Given the description of an element on the screen output the (x, y) to click on. 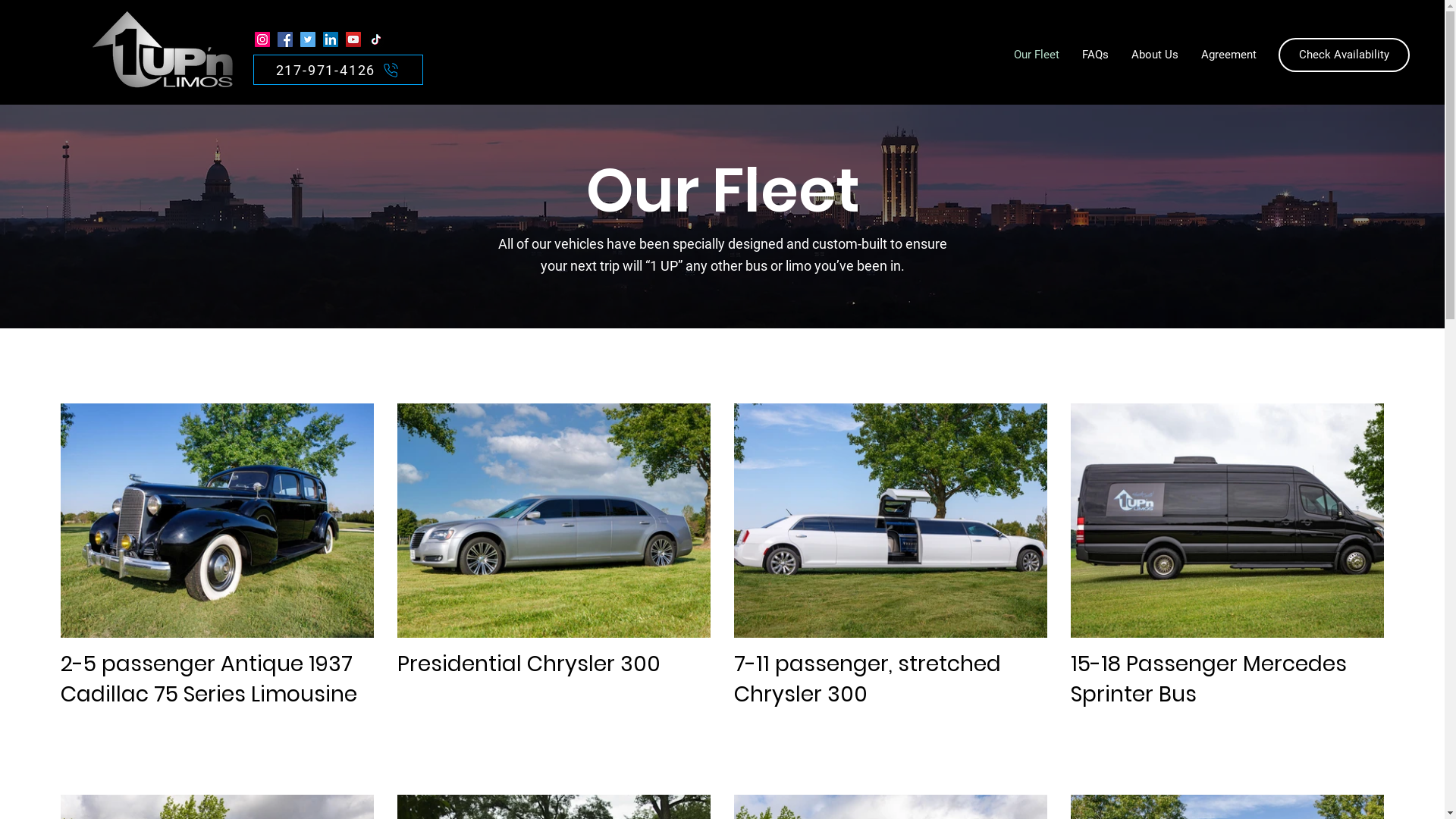
217-971-4126 Element type: text (338, 69)
FAQs Element type: text (1095, 54)
Agreement Element type: text (1228, 54)
Check Availability Element type: text (1343, 54)
About Us Element type: text (1154, 54)
Our Fleet Element type: text (1036, 54)
